Given the description of an element on the screen output the (x, y) to click on. 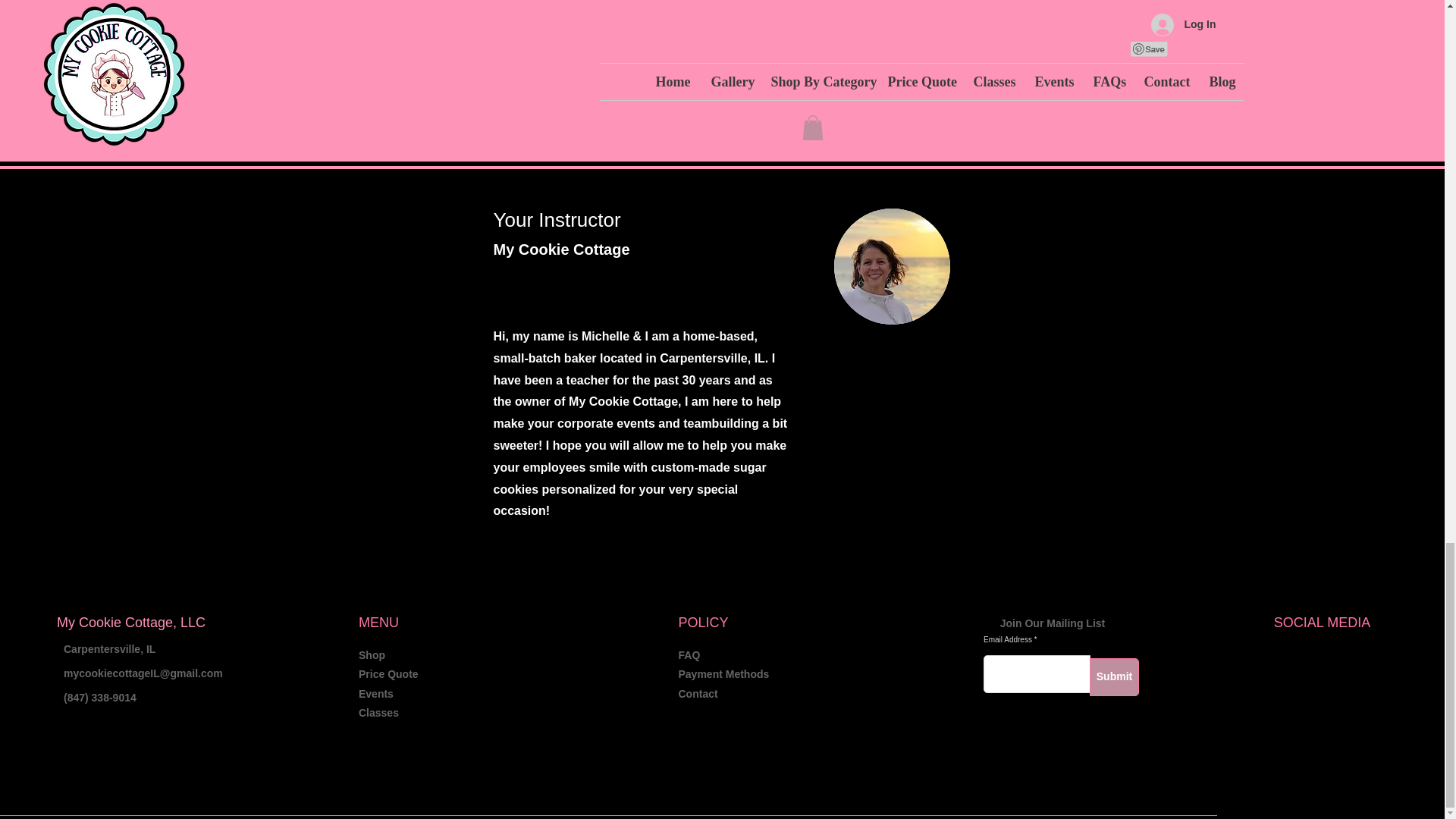
Submit (1113, 677)
Events (375, 693)
Contact (697, 693)
FAQ (689, 654)
Classes (378, 712)
Price Quote (388, 674)
